Given the description of an element on the screen output the (x, y) to click on. 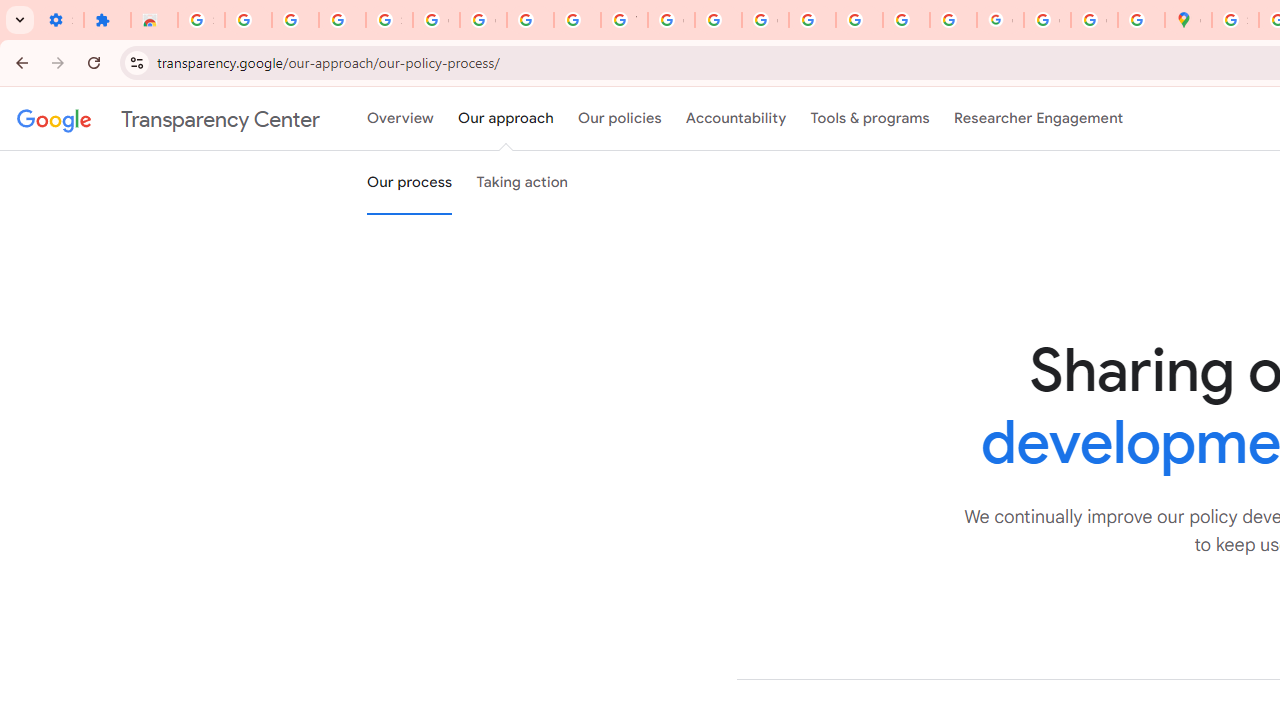
Accountability (735, 119)
Google Account Help (482, 20)
Taking action (522, 183)
YouTube (623, 20)
Tools & programs (869, 119)
Learn how to find your photos - Google Photos Help (294, 20)
Delete photos & videos - Computer - Google Photos Help (248, 20)
Google Maps (1188, 20)
